Given the description of an element on the screen output the (x, y) to click on. 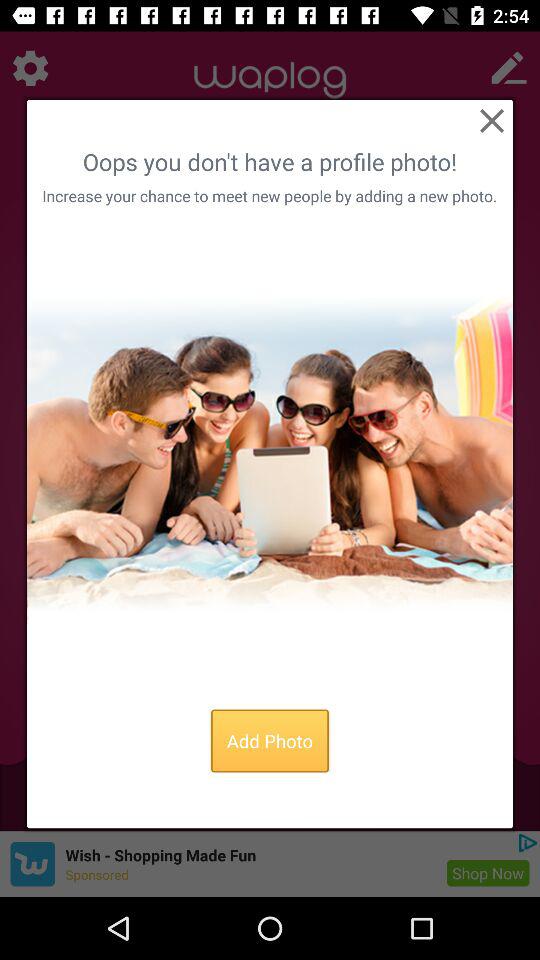
launch the increase your chance item (269, 195)
